Given the description of an element on the screen output the (x, y) to click on. 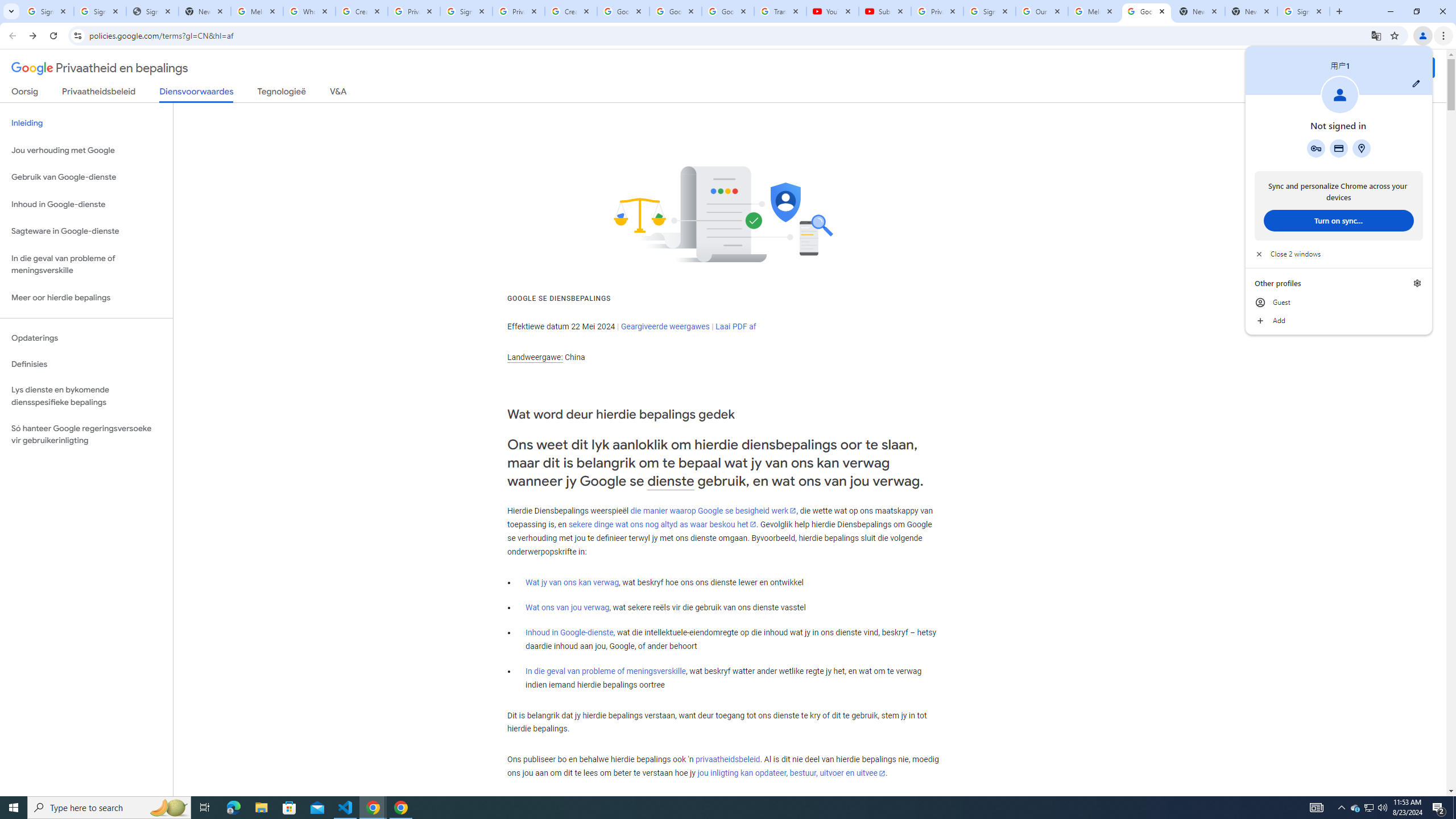
Guest (1338, 302)
privaatheidsbeleid (727, 759)
Landweergawe: (534, 357)
Privaatheid en bepalings (99, 68)
YouTube (831, 11)
dienste (670, 480)
Addresses and more (1361, 148)
Google Chrome - 2 running windows (373, 807)
Who is my administrator? - Google Account Help (309, 11)
Visual Studio Code - 1 running window (345, 807)
